Given the description of an element on the screen output the (x, y) to click on. 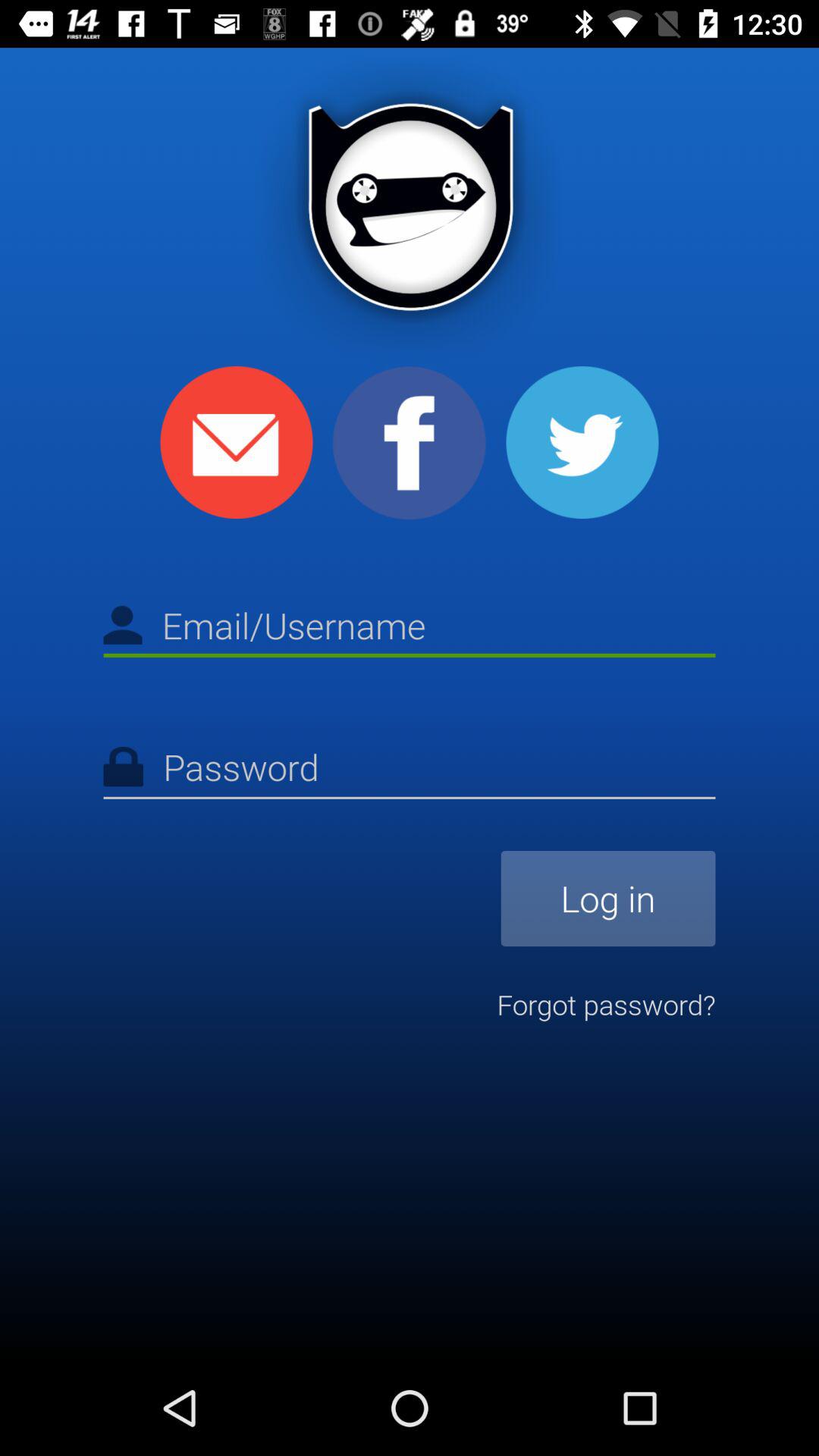
email/username button (409, 628)
